Given the description of an element on the screen output the (x, y) to click on. 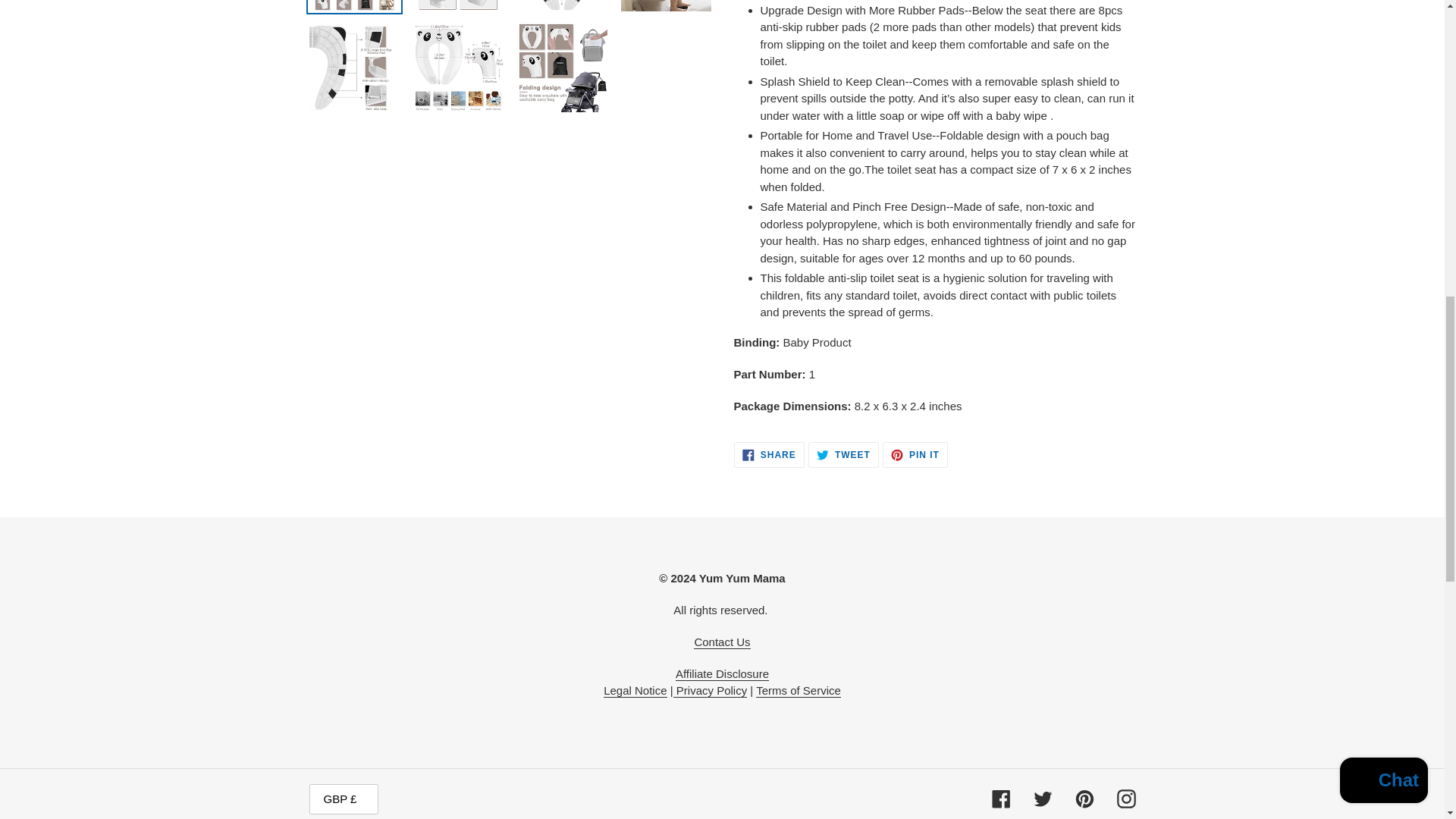
Legal Notice (635, 690)
Privacy Policy (710, 690)
Terms of Service (798, 690)
